Given the description of an element on the screen output the (x, y) to click on. 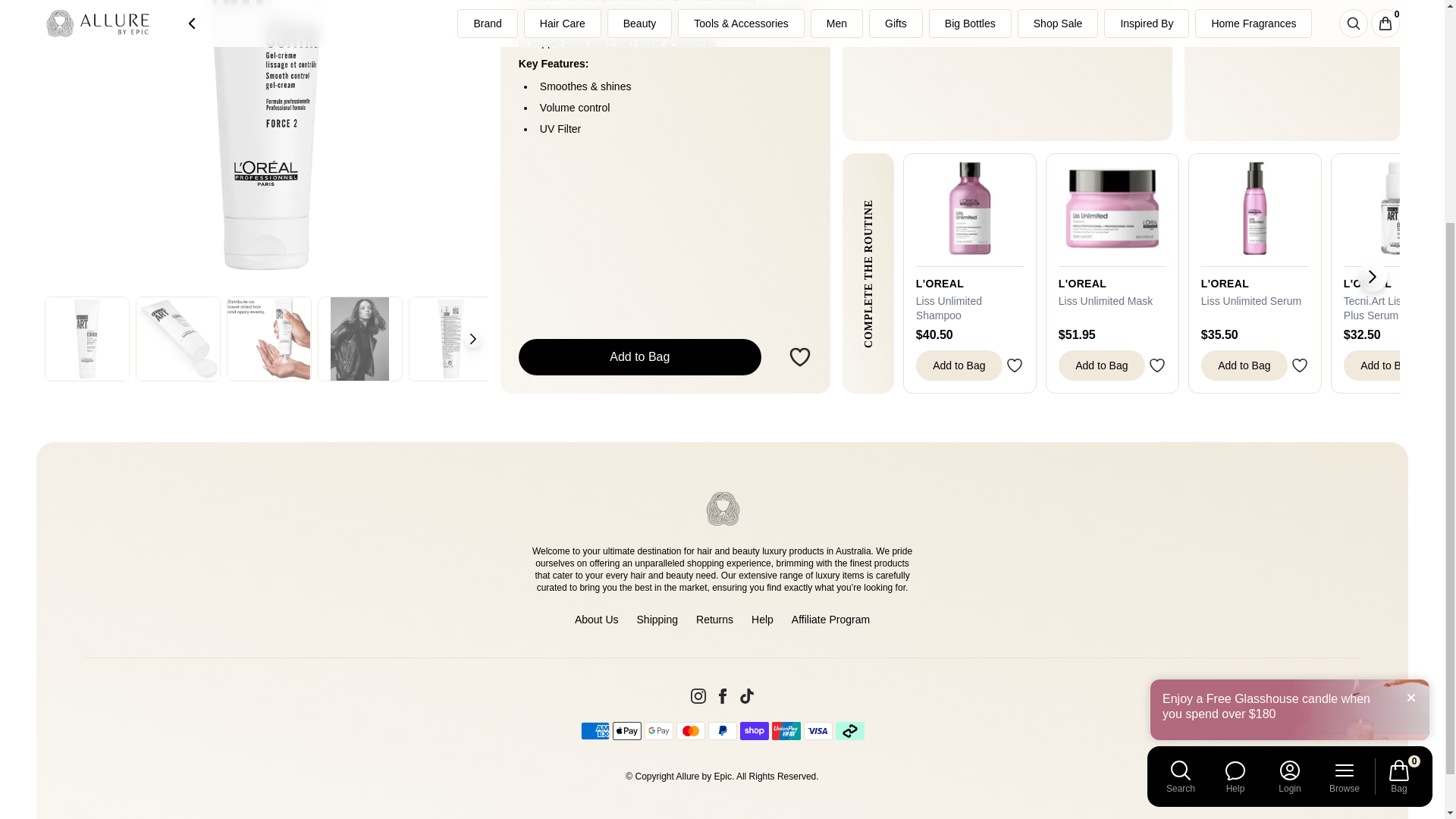
Allure by Epic Instagram (697, 695)
Shipping Page (657, 619)
Allure by Epic Facebook (721, 695)
Affiliate Program Page (830, 619)
Help Page (762, 619)
Returns Page (714, 619)
Write a review (1007, 70)
About Us Page (596, 619)
Allure by Epic TikTok (746, 695)
